Given the description of an element on the screen output the (x, y) to click on. 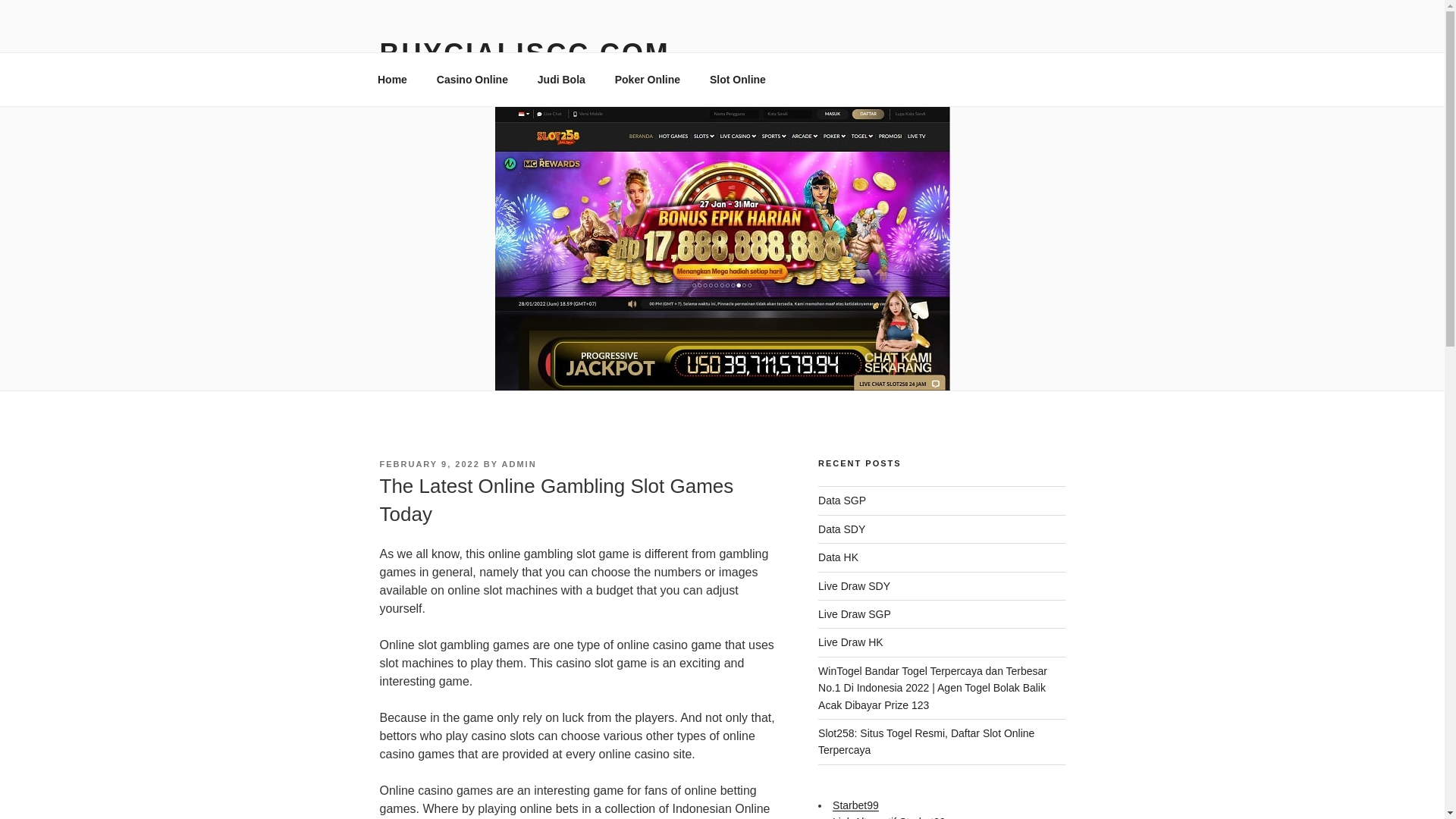
ADMIN (519, 463)
Casino Online (472, 78)
Slot Online (736, 78)
Poker Online (647, 78)
Live Draw SDY (853, 585)
Judi Bola (561, 78)
Live Draw SGP (854, 613)
Data HK (838, 557)
FEBRUARY 9, 2022 (428, 463)
Slot258: Situs Togel Resmi, Daftar Slot Online Terpercaya (925, 741)
